Given the description of an element on the screen output the (x, y) to click on. 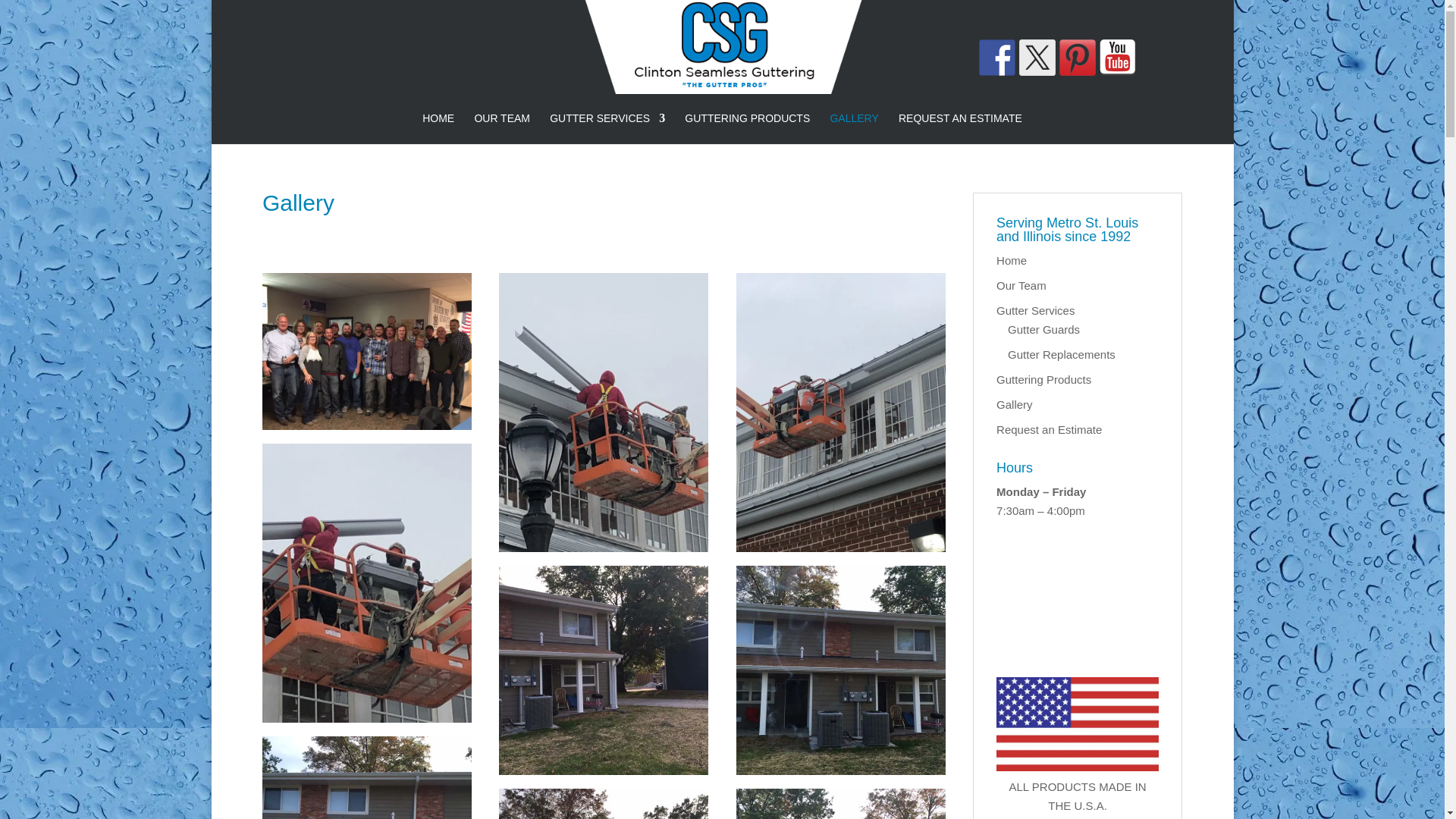
Follow us on Twitter (1037, 57)
GUTTERING PRODUCTS (746, 128)
Clinton Seamless Gutter (366, 350)
clinton seamless gutters (366, 717)
GALLERY (853, 128)
clinton seamless gutters (366, 425)
Find us on YouTube (1117, 57)
REQUEST AN ESTIMATE (960, 128)
Follow us on Facebook (996, 57)
Our board on Pinterest (1077, 57)
HOME (438, 128)
GUTTER SERVICES (607, 128)
OUR TEAM (501, 128)
